Given the description of an element on the screen output the (x, y) to click on. 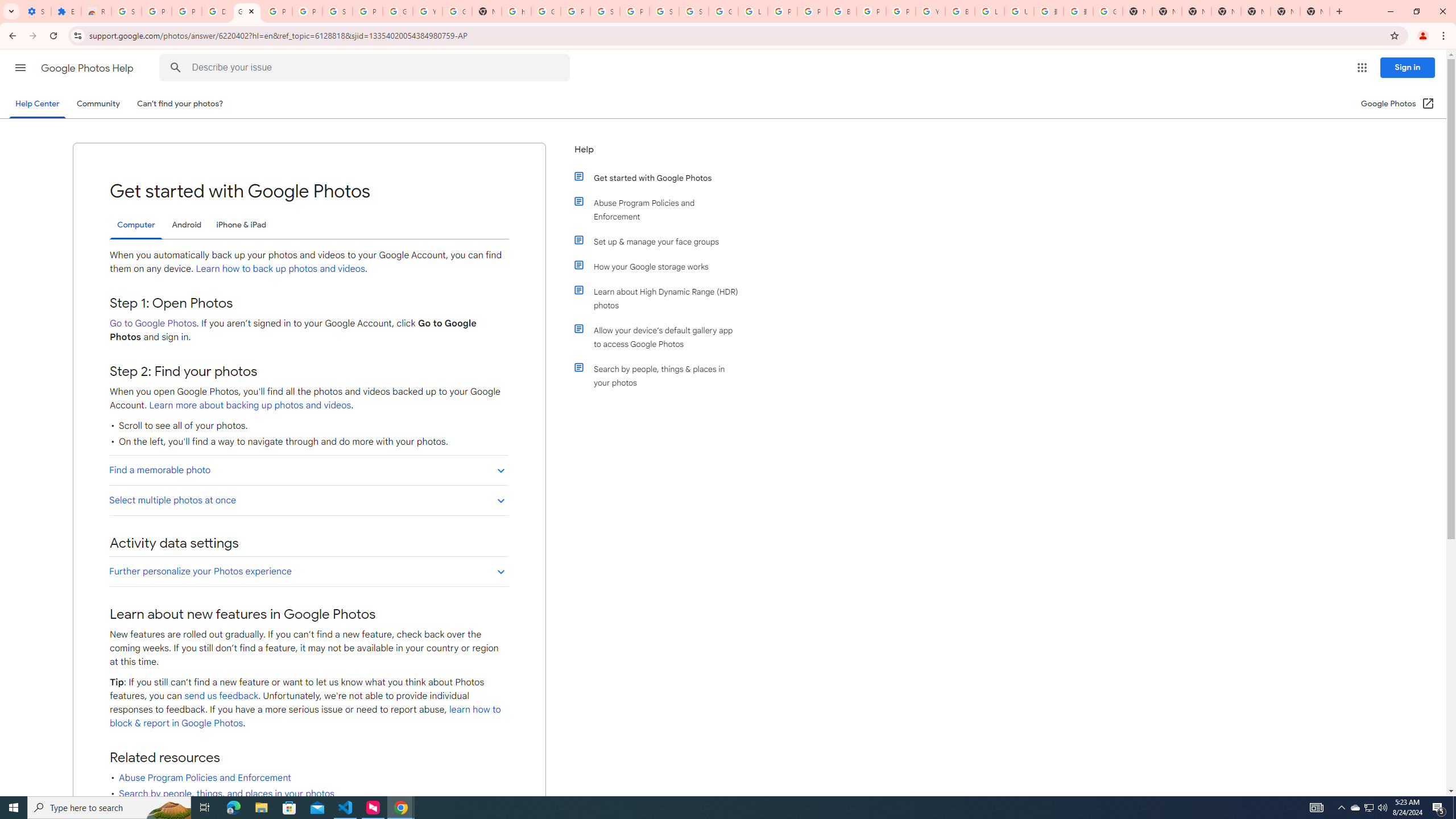
Google Photos Help (87, 68)
Reviews: Helix Fruit Jump Arcade Game (95, 11)
Further personalize your Photos experience (308, 571)
Learn more about backing up photos and videos (249, 405)
